Given the description of an element on the screen output the (x, y) to click on. 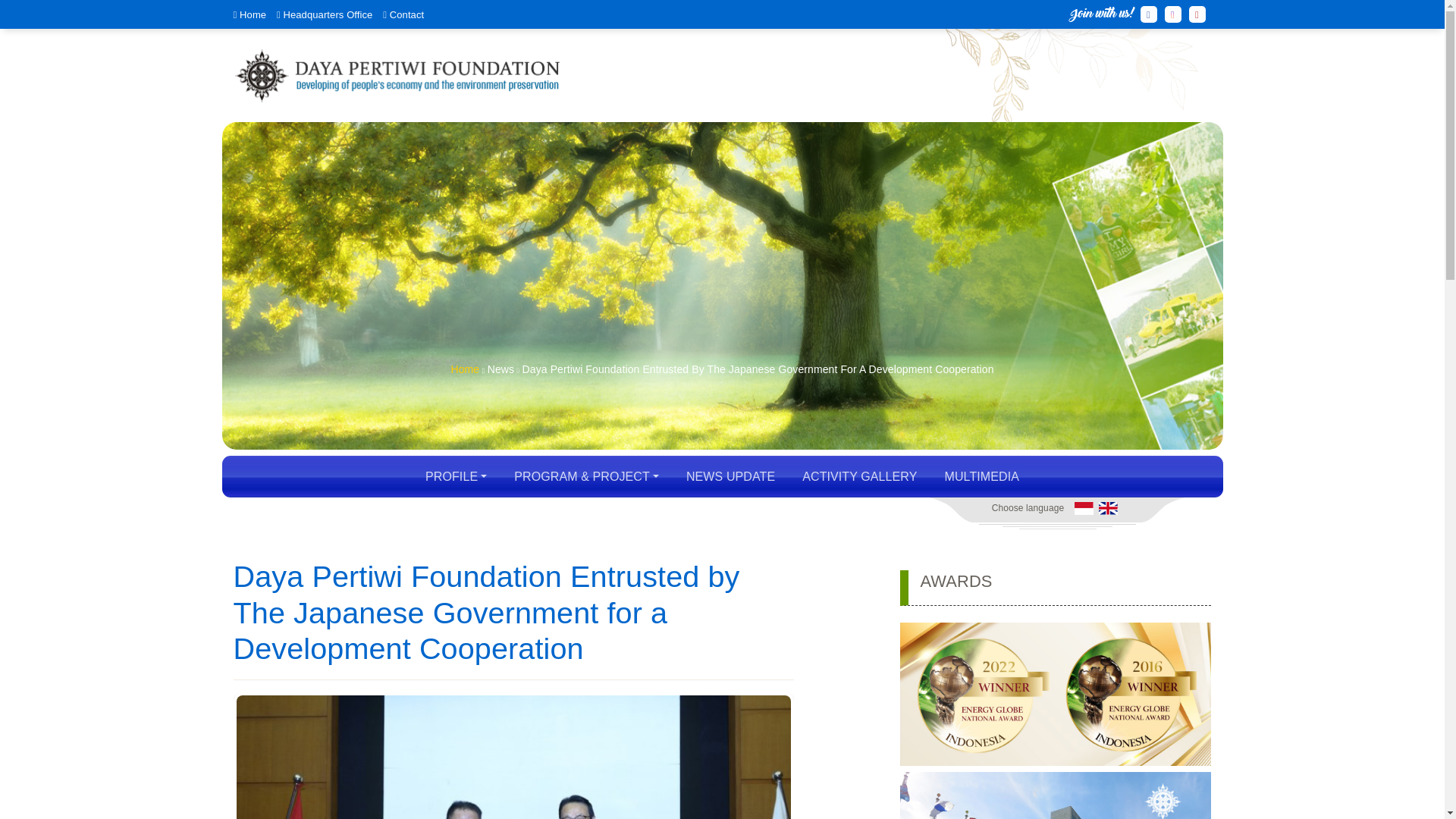
PROFILE (455, 476)
JCC Community (396, 75)
Home (464, 369)
Daya Pertiwi Foundation (396, 75)
Contact (406, 14)
Home (253, 14)
Headquarters Office (328, 14)
